Given the description of an element on the screen output the (x, y) to click on. 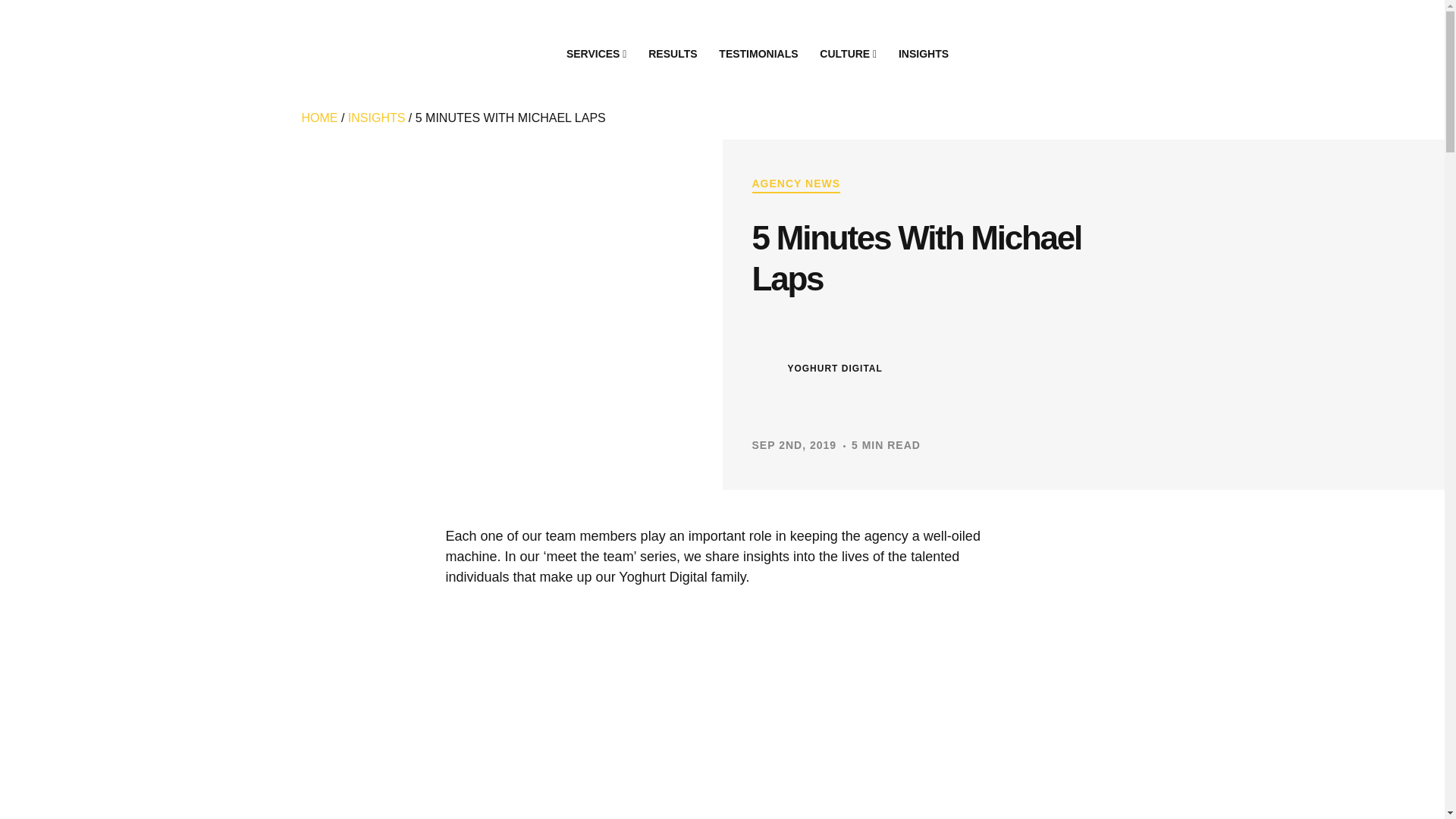
HOME (319, 117)
RESULTS (672, 53)
SERVICES (595, 53)
INSIGHTS (923, 53)
TESTIMONIALS (758, 53)
CULTURE (848, 53)
Services  (595, 53)
